Given the description of an element on the screen output the (x, y) to click on. 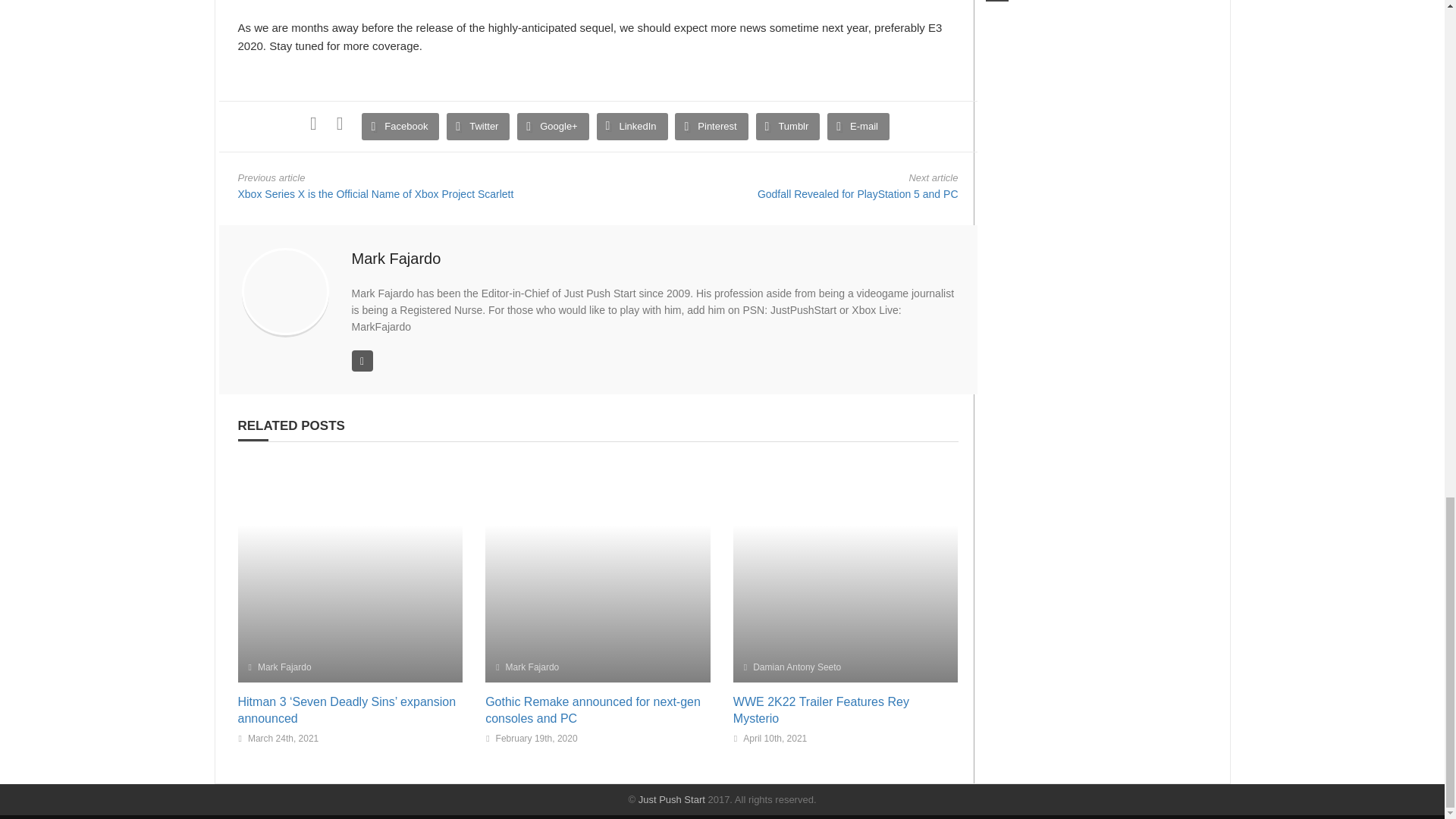
Xbox Series X is the Official Name of Xbox Project Scarlett (375, 193)
Posts by Mark Fajardo (396, 258)
Godfall Revealed for PlayStation 5 and PC (857, 193)
